Given the description of an element on the screen output the (x, y) to click on. 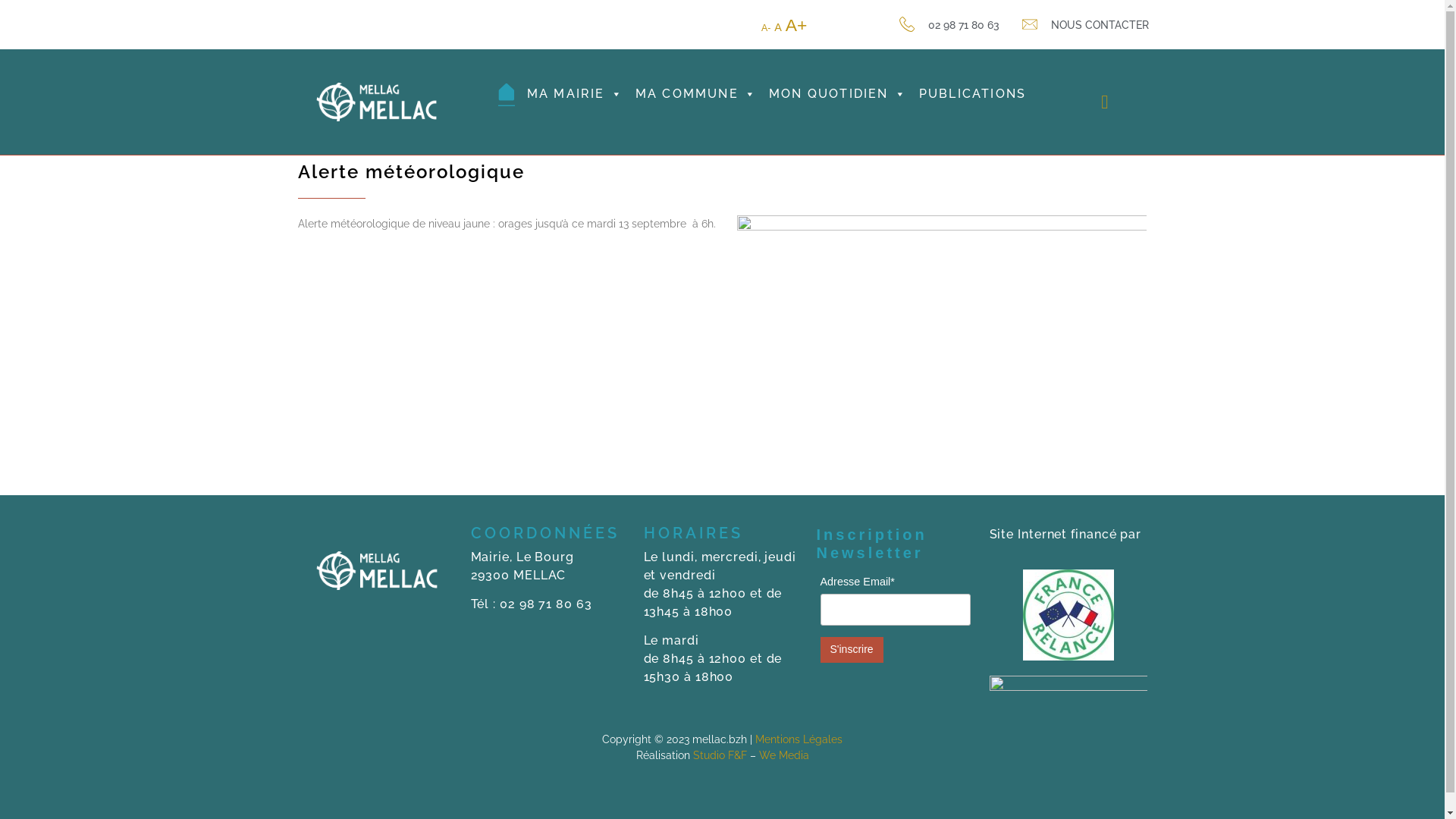
We Media Element type: text (783, 754)
Logo France Relance Element type: hover (1067, 614)
A Element type: text (765, 27)
PUBLICATIONS Element type: text (972, 93)
A Element type: text (796, 24)
MON QUOTIDIEN Element type: text (837, 93)
A Element type: text (777, 27)
S'inscrire Element type: text (851, 649)
NOUS CONTACTER Element type: text (1099, 24)
Studio F&F Element type: text (719, 754)
MA MAIRIE Element type: text (574, 93)
MA COMMUNE Element type: text (695, 93)
